Given the description of an element on the screen output the (x, y) to click on. 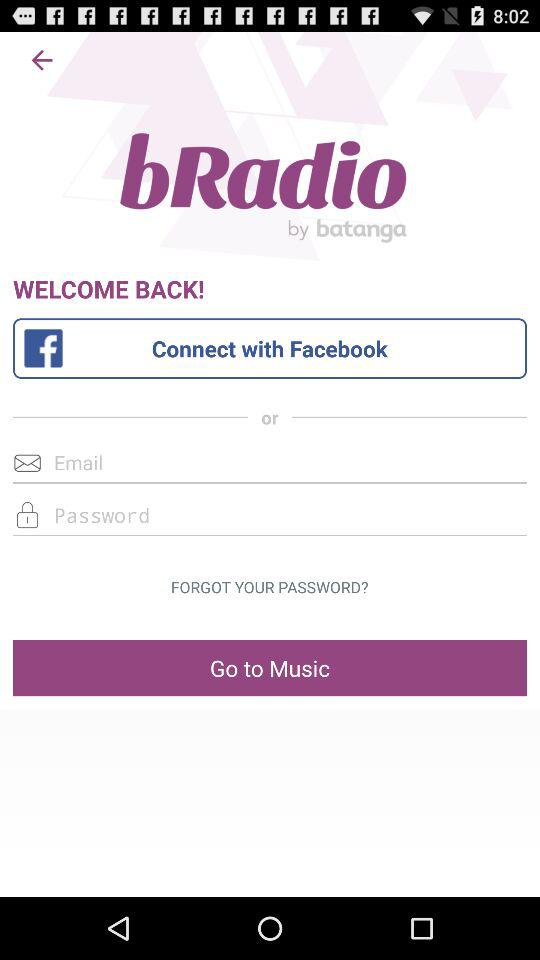
press the connect with facebook (269, 348)
